Given the description of an element on the screen output the (x, y) to click on. 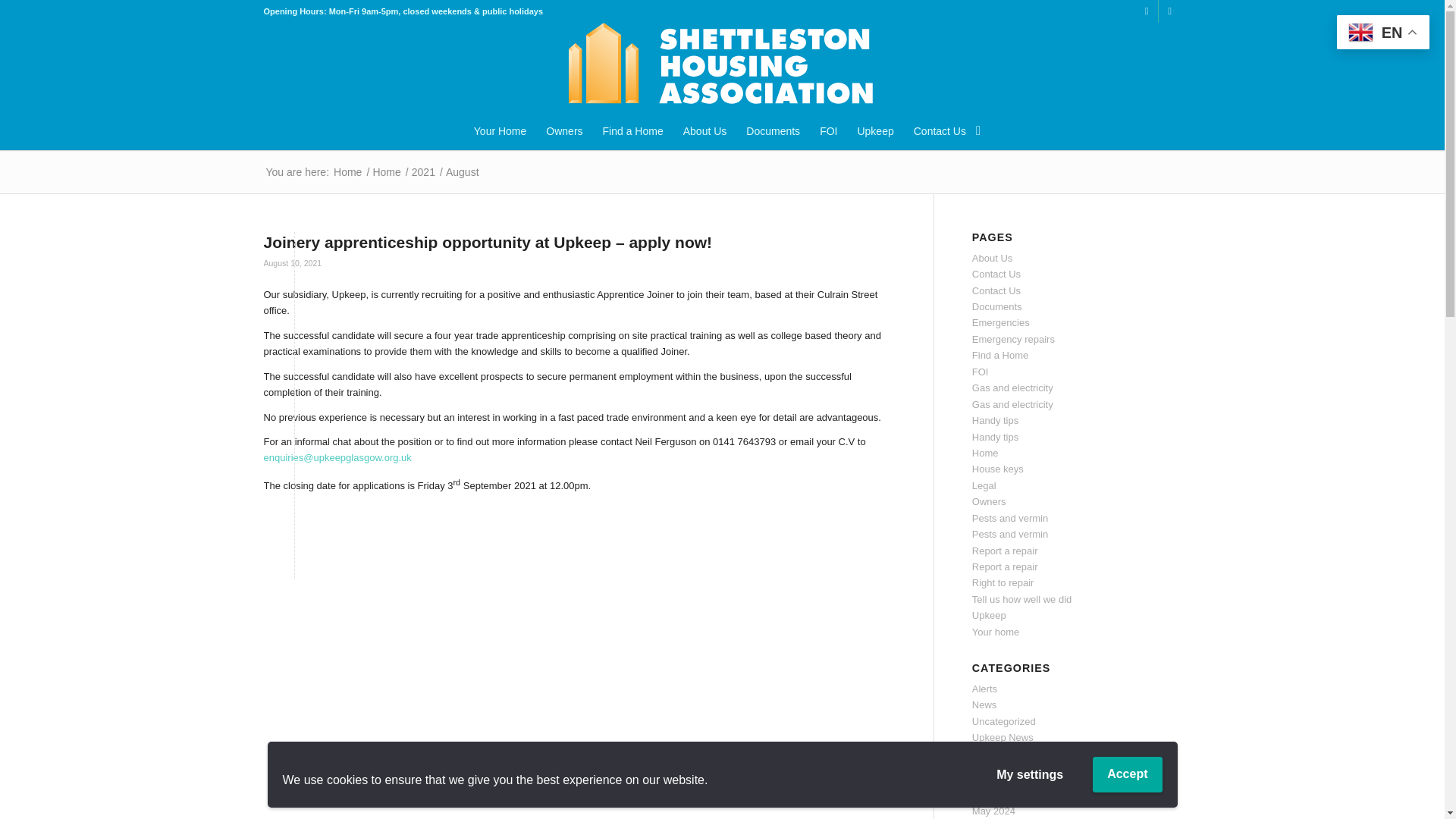
Find a Home (632, 130)
Shettleston Housing Association (347, 172)
About Us (704, 130)
Your Home (500, 130)
Accept (1127, 774)
My settings (1029, 774)
2021 (423, 172)
Facebook (1169, 11)
Twitter (1146, 11)
Home (386, 172)
Owners (563, 130)
Documents (772, 130)
